Given the description of an element on the screen output the (x, y) to click on. 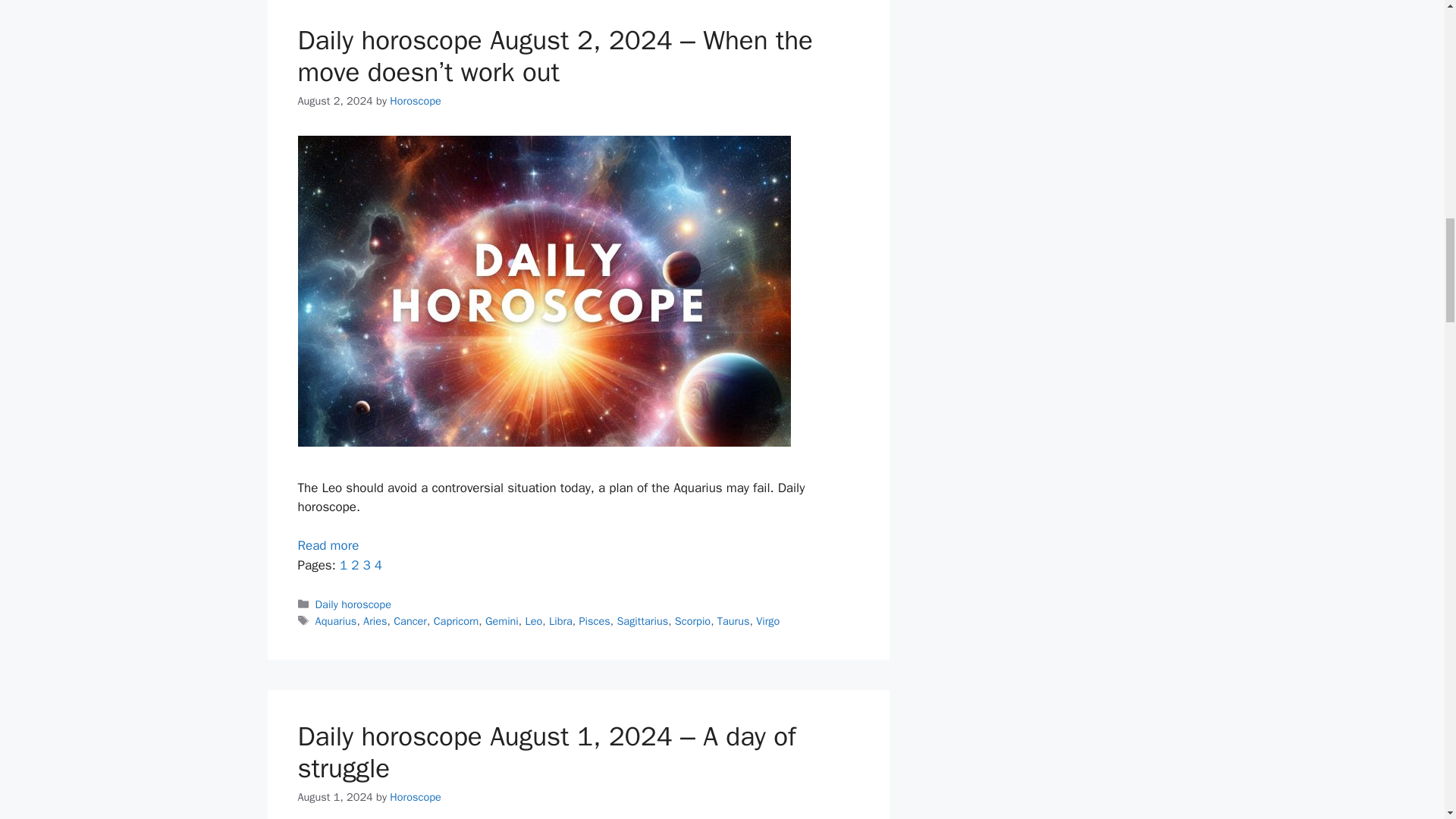
View all posts by Horoscope (415, 796)
View all posts by Horoscope (415, 100)
